Given the description of an element on the screen output the (x, y) to click on. 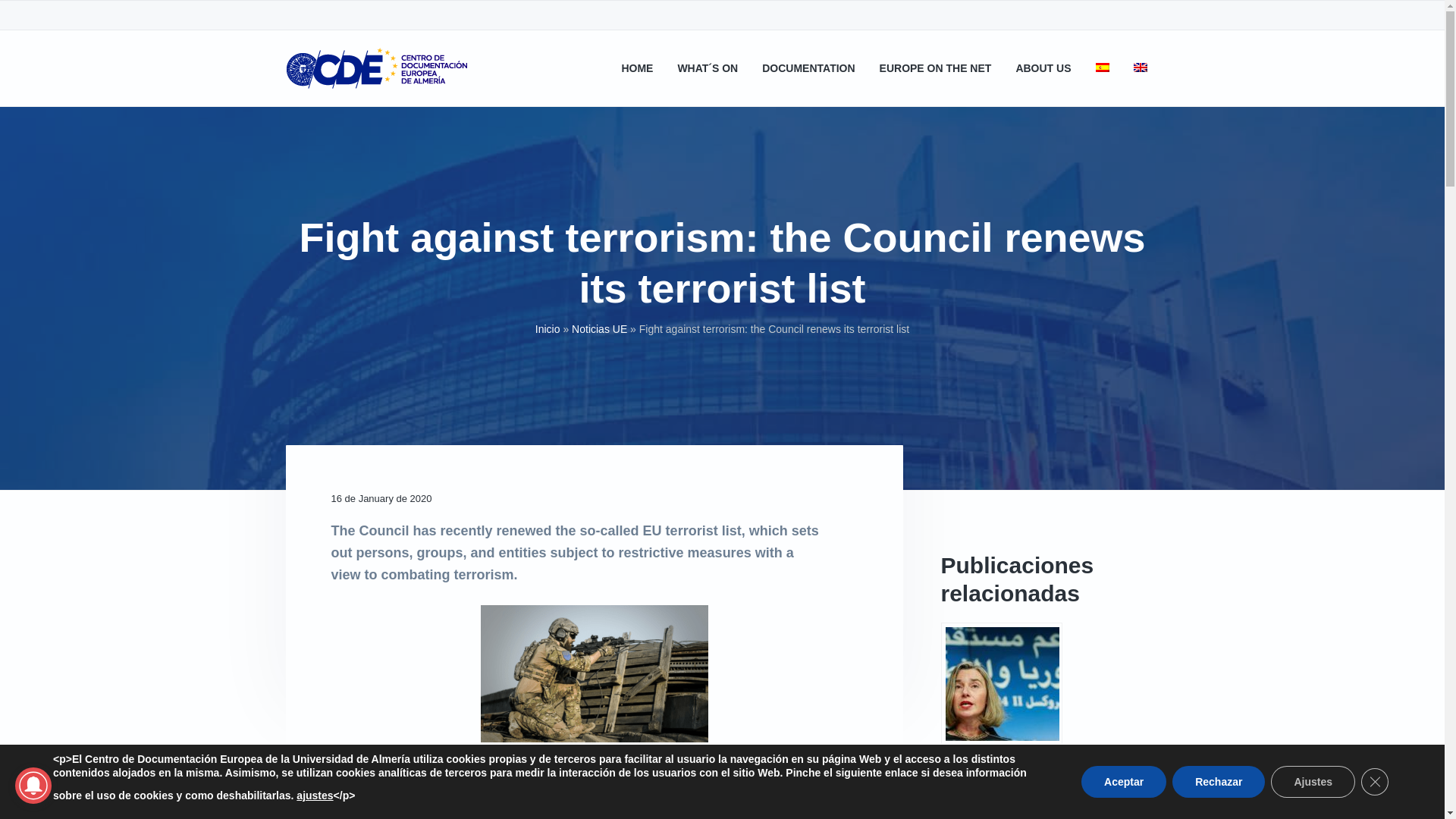
ABOUT US (1042, 67)
EUROPE ON THE NET (935, 67)
DOCUMENTATION (807, 67)
HOME (636, 67)
